Given the description of an element on the screen output the (x, y) to click on. 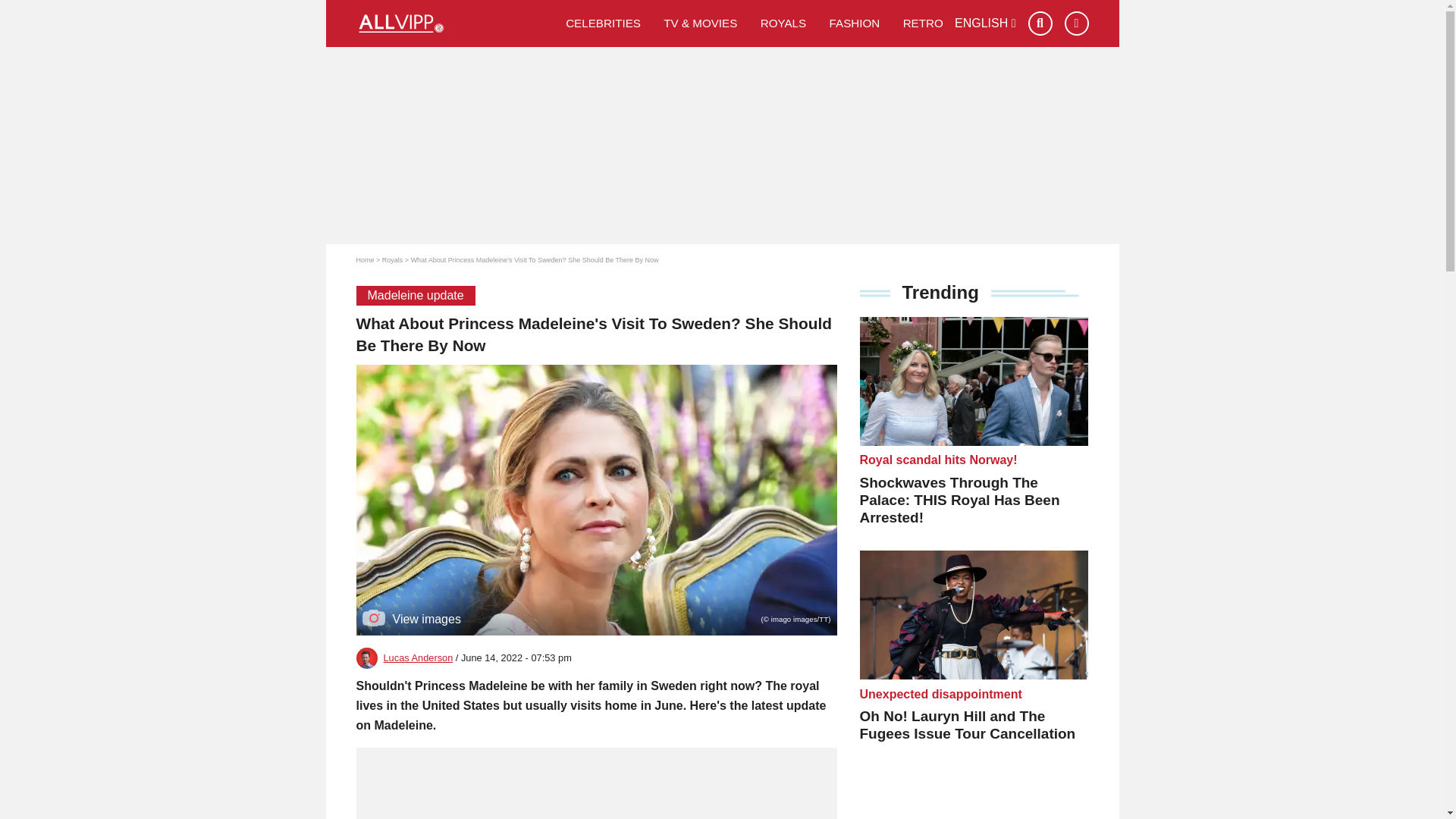
Lucas Anderson (418, 657)
Royals (783, 23)
Retro (923, 23)
Fashion (853, 23)
Home (365, 259)
RETRO (923, 23)
Celebrities (603, 23)
FASHION (853, 23)
ROYALS (783, 23)
CELEBRITIES (603, 23)
VIP News I Up close with your favorite Celebs on Allvipp.com (455, 23)
Search (1039, 23)
ENGLISH  (985, 22)
Royals (392, 259)
